Given the description of an element on the screen output the (x, y) to click on. 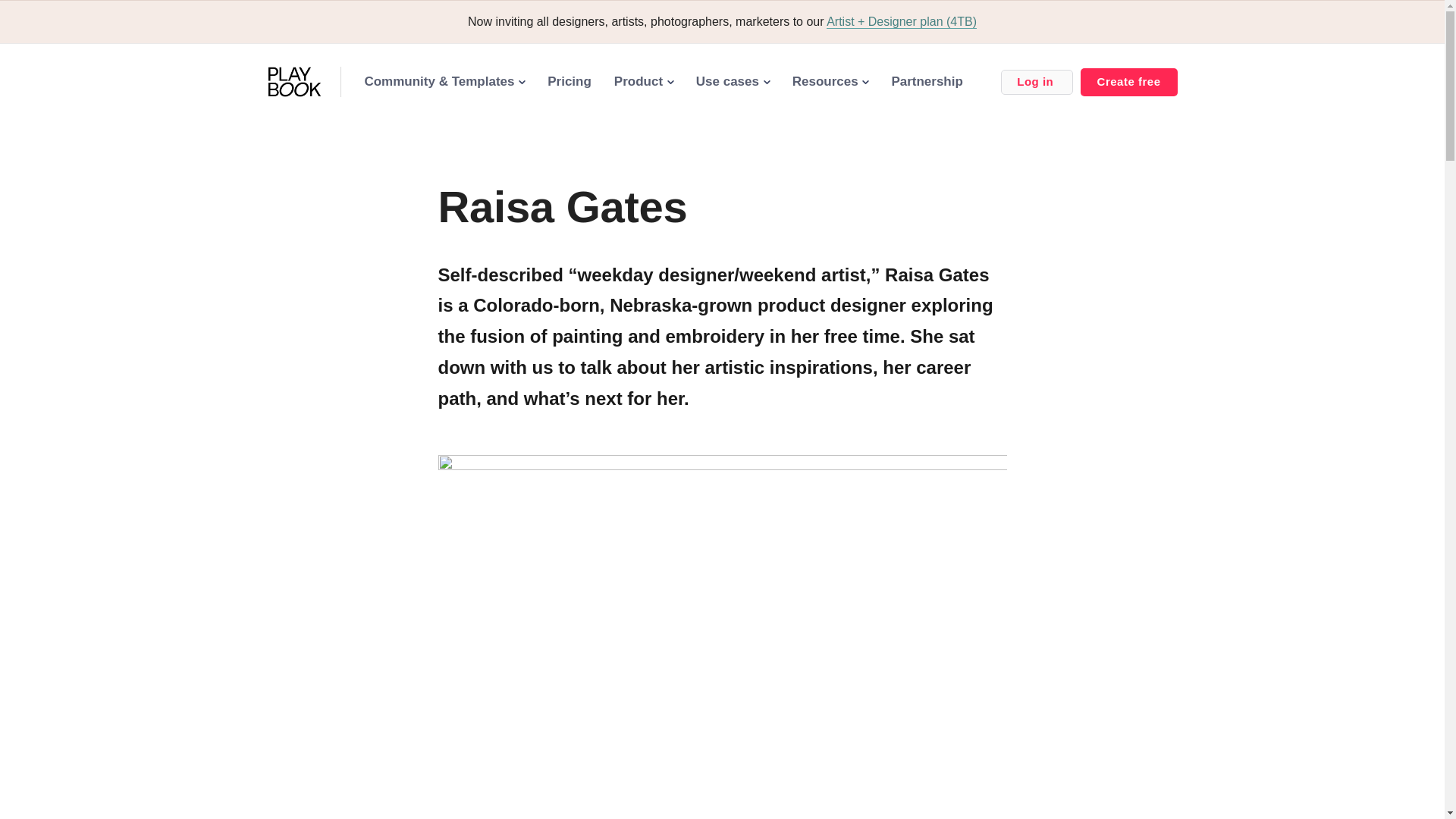
Pricing (569, 81)
Partnership (926, 81)
Log in   (1036, 82)
Create free (1128, 81)
